Given the description of an element on the screen output the (x, y) to click on. 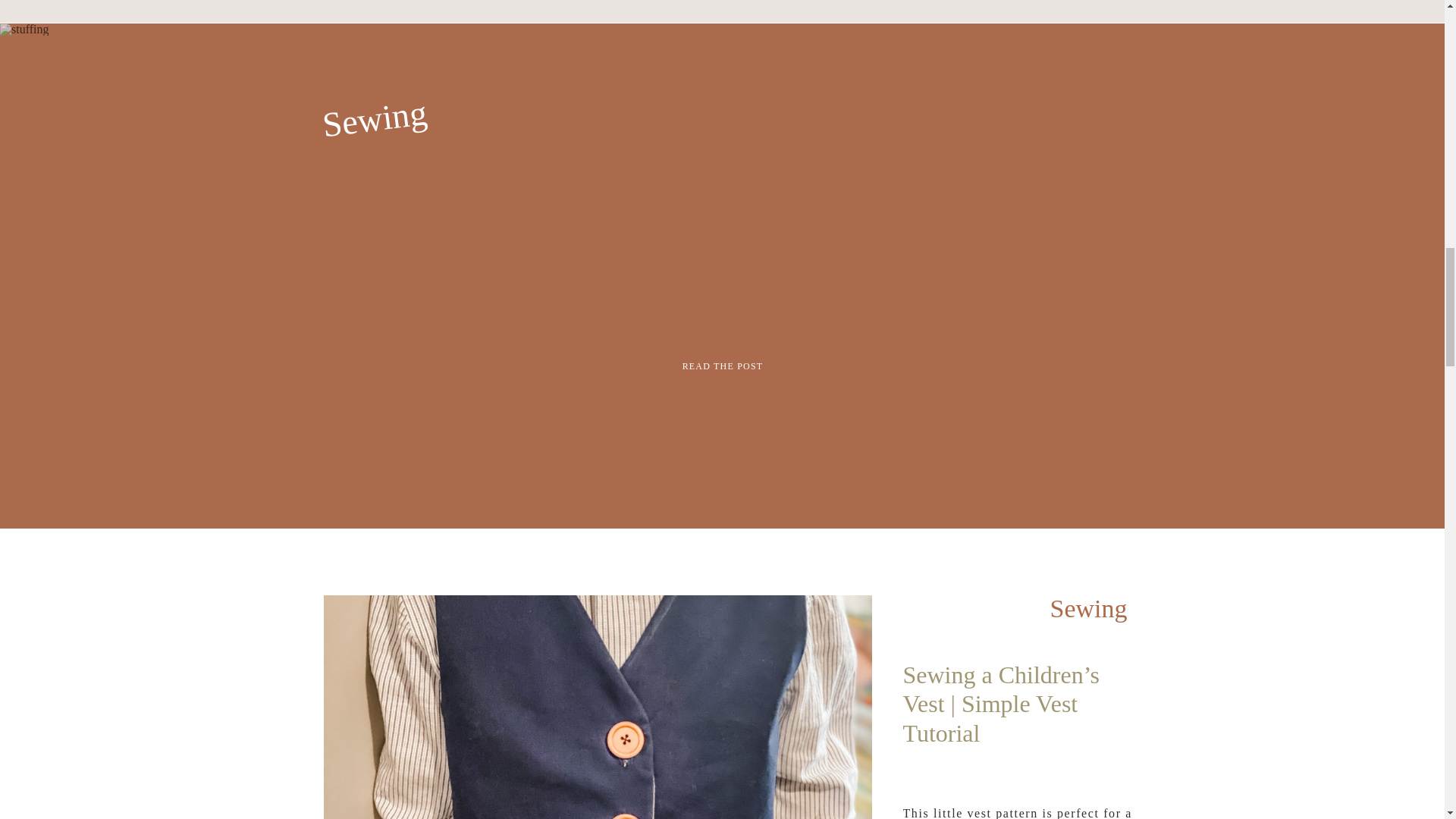
READ THE POST (723, 364)
Sewing (1087, 608)
Sewing (372, 112)
